Given the description of an element on the screen output the (x, y) to click on. 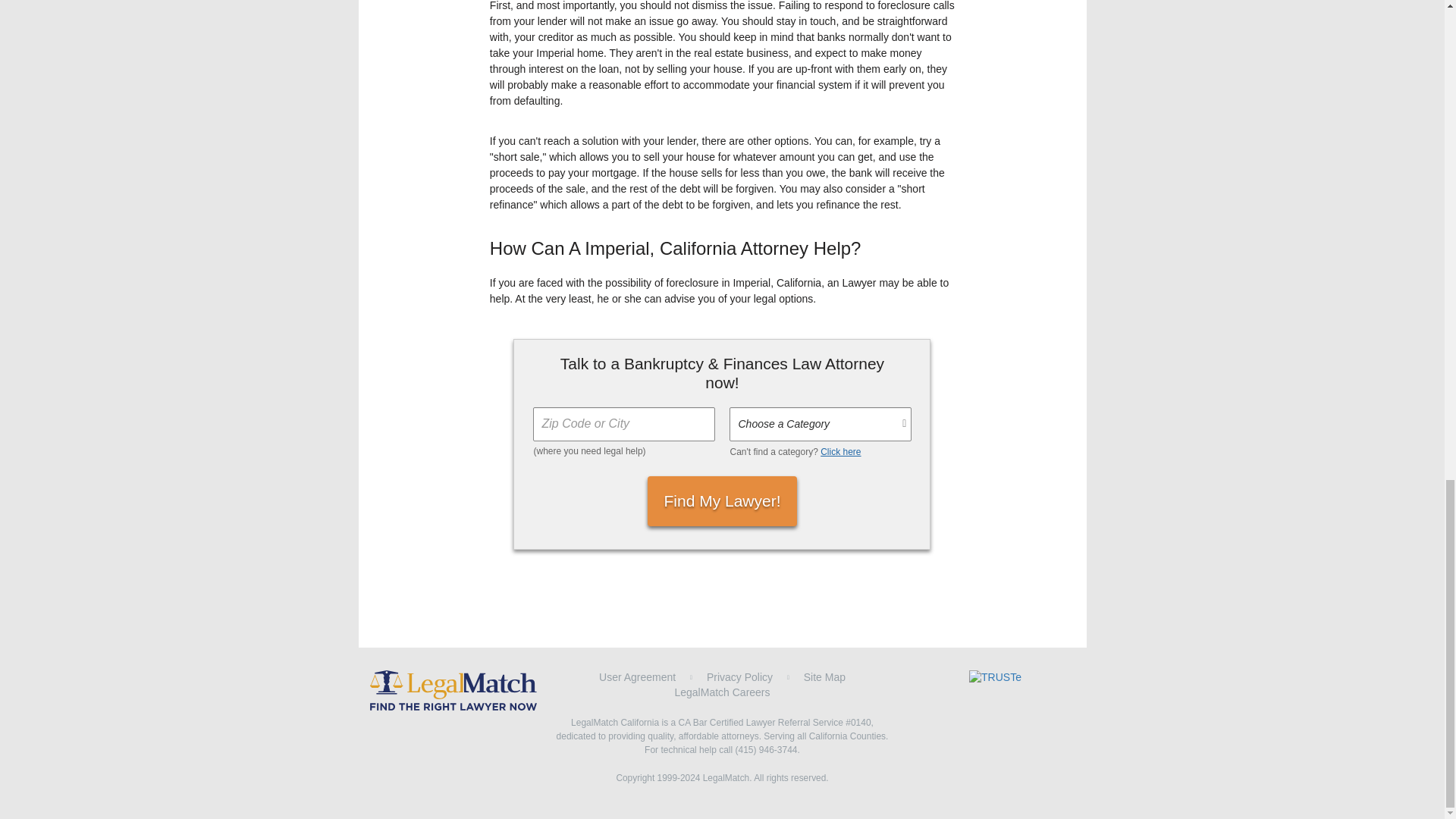
LegalMatch Careers (722, 692)
